Given the description of an element on the screen output the (x, y) to click on. 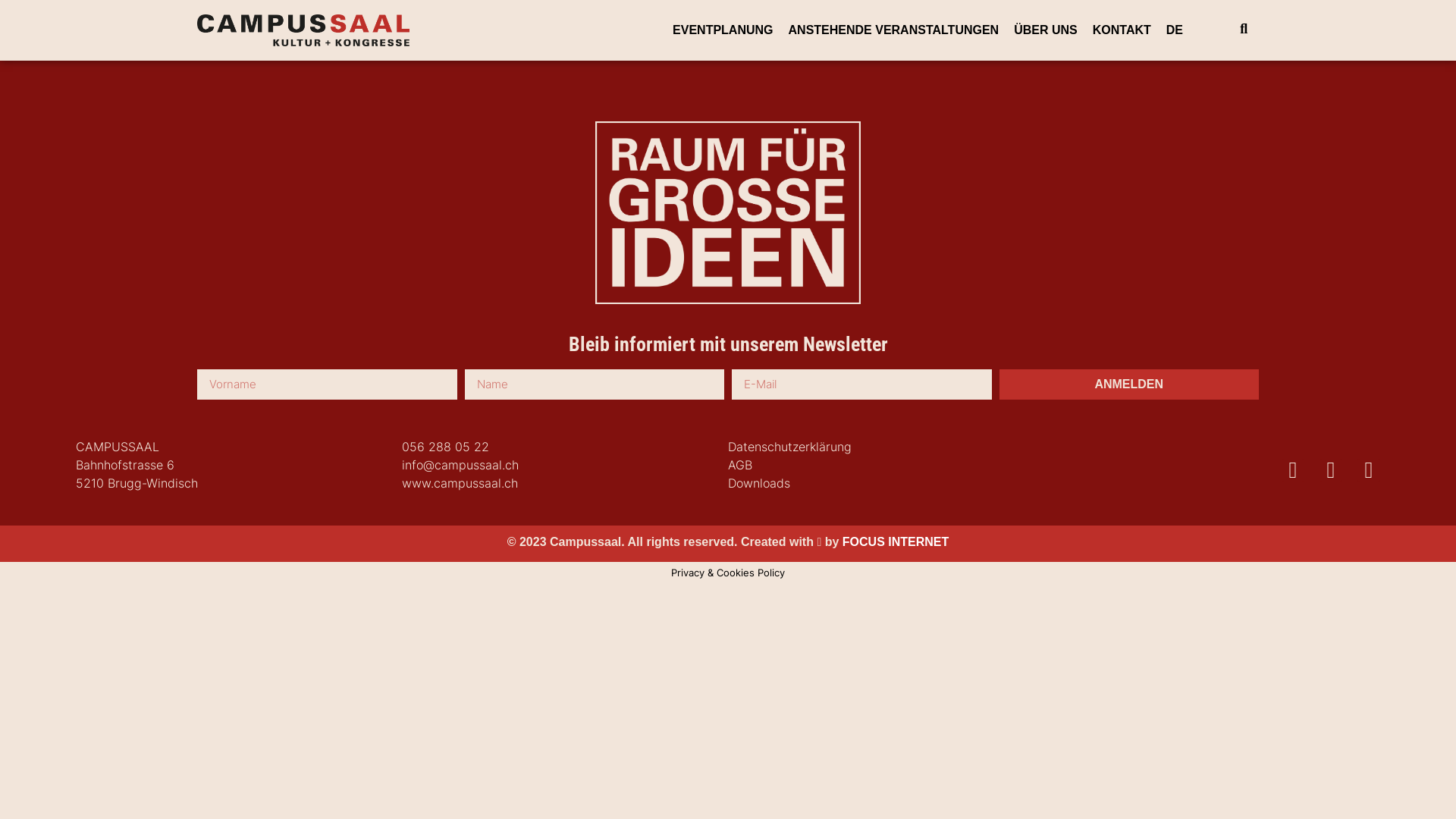
DE Element type: text (1174, 29)
KONTAKT Element type: text (1121, 29)
FOCUS INTERNET Element type: text (895, 541)
ANMELDEN Element type: text (1129, 384)
AGB Element type: text (740, 464)
EVENTPLANUNG Element type: text (722, 29)
Suche Element type: hover (1248, 27)
Downloads Element type: text (759, 482)
info@campussaal.ch Element type: text (459, 464)
ANSTEHENDE VERANSTALTUNGEN Element type: text (894, 29)
www.campussaal.ch Element type: text (459, 482)
056 288 05 22 Element type: text (445, 446)
